Given the description of an element on the screen output the (x, y) to click on. 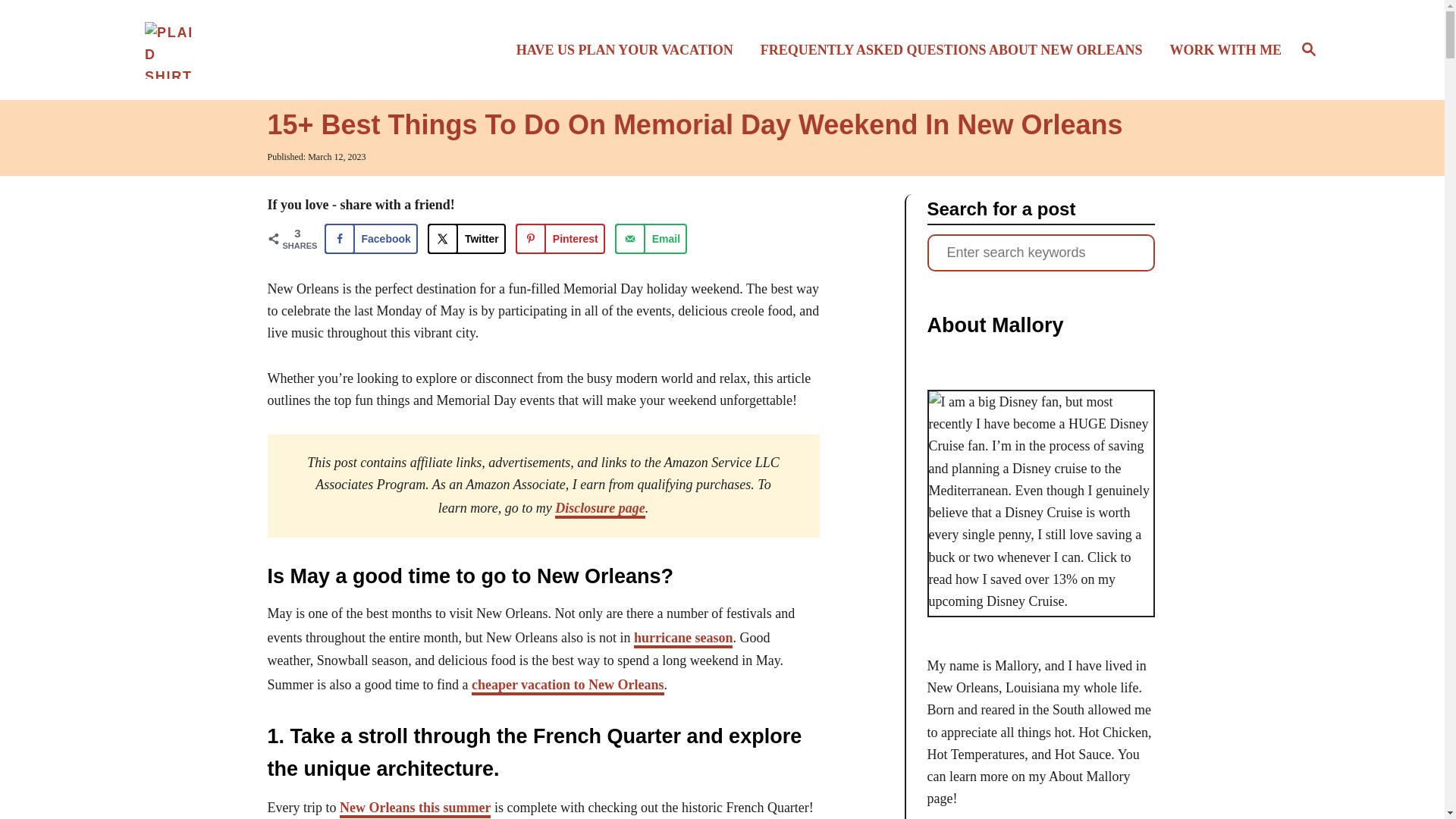
Magnifying Glass (1308, 48)
Twitter (466, 238)
cheaper vacation to New Orleans (567, 686)
Plaid Shirt Yoga Pants (285, 49)
Send over email (650, 238)
HAVE US PLAN YOUR VACATION (628, 49)
FREQUENTLY ASKED QUESTIONS ABOUT NEW ORLEANS (955, 49)
Facebook (370, 238)
New Orleans this summer (414, 809)
hurricane season (683, 638)
Pinterest (560, 238)
Disclosure page (599, 509)
WORK WITH ME (1220, 49)
Save to Pinterest (560, 238)
